Given the description of an element on the screen output the (x, y) to click on. 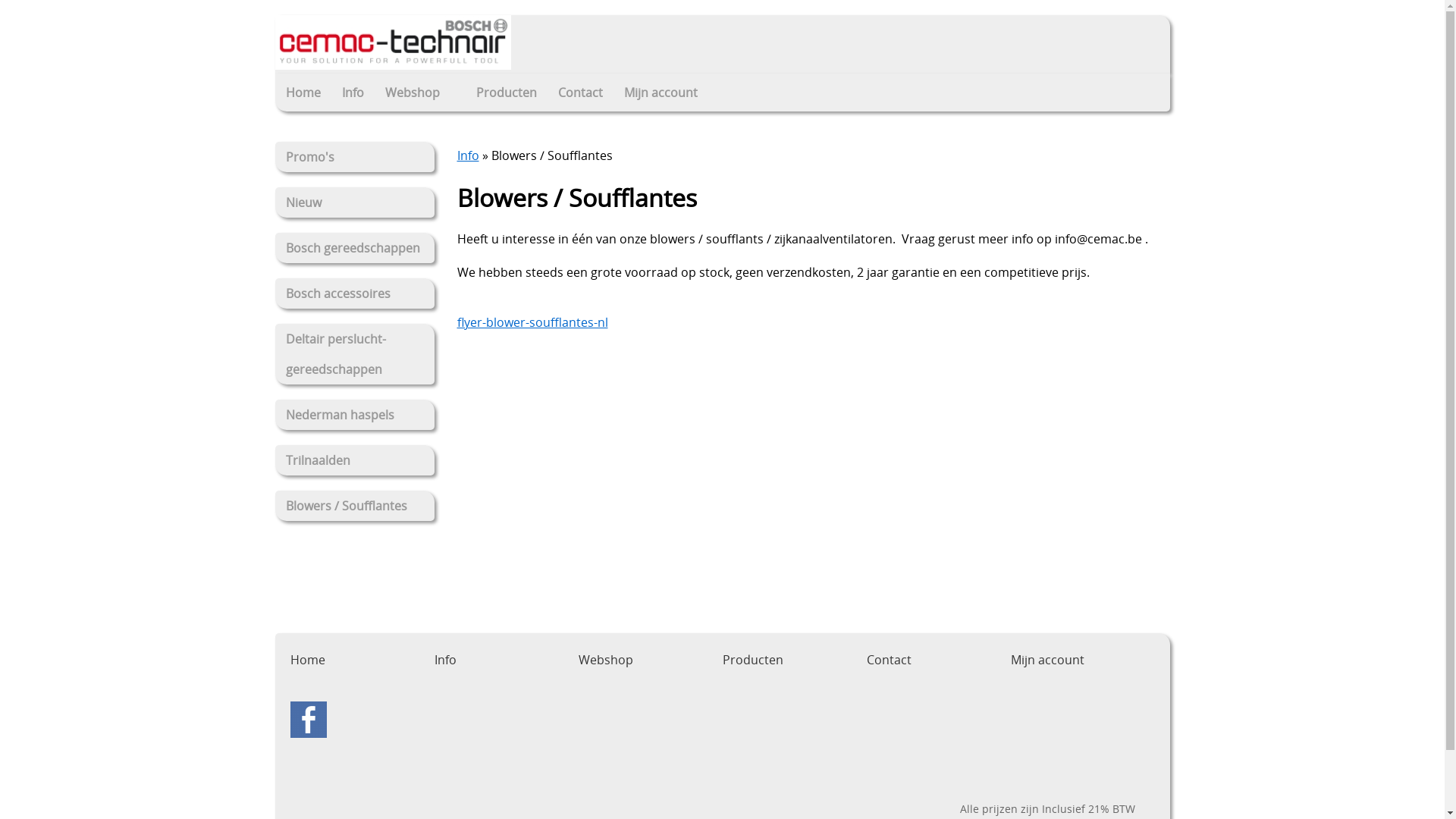
Producten Element type: text (506, 92)
Webshop Element type: text (419, 92)
Mijn account Element type: text (659, 92)
Webshop Element type: text (604, 659)
Contact Element type: text (580, 92)
Nieuw Element type: text (353, 202)
Home Element type: text (306, 659)
Info Element type: text (351, 92)
Home Element type: text (302, 92)
flyer-blower-soufflantes-nl Element type: text (531, 321)
Nederman haspels Element type: text (353, 414)
Contact Element type: text (888, 659)
Deltair perslucht-gereedschappen Element type: text (353, 353)
Info Element type: text (467, 155)
Blowers / Soufflantes Element type: text (353, 505)
Bosch accessoires Element type: text (353, 293)
Zoeken Element type: text (1124, 99)
Producten Element type: text (751, 659)
Info Element type: text (444, 659)
Trilnaalden Element type: text (353, 460)
Mijn account Element type: text (1046, 659)
Bosch gereedschappen Element type: text (353, 247)
Promo's Element type: text (353, 156)
